Given the description of an element on the screen output the (x, y) to click on. 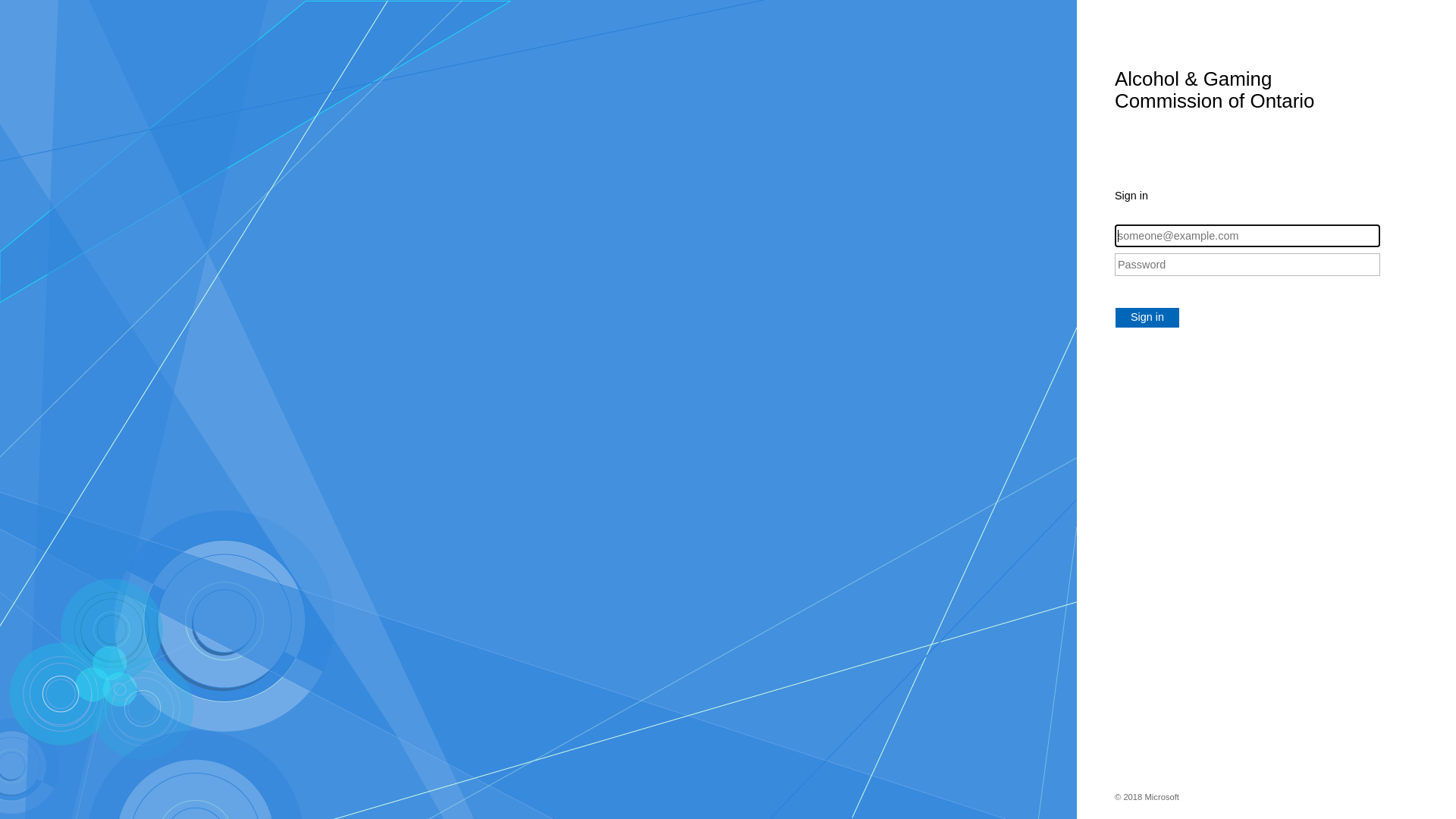
Sign in Element type: text (1146, 317)
